Given the description of an element on the screen output the (x, y) to click on. 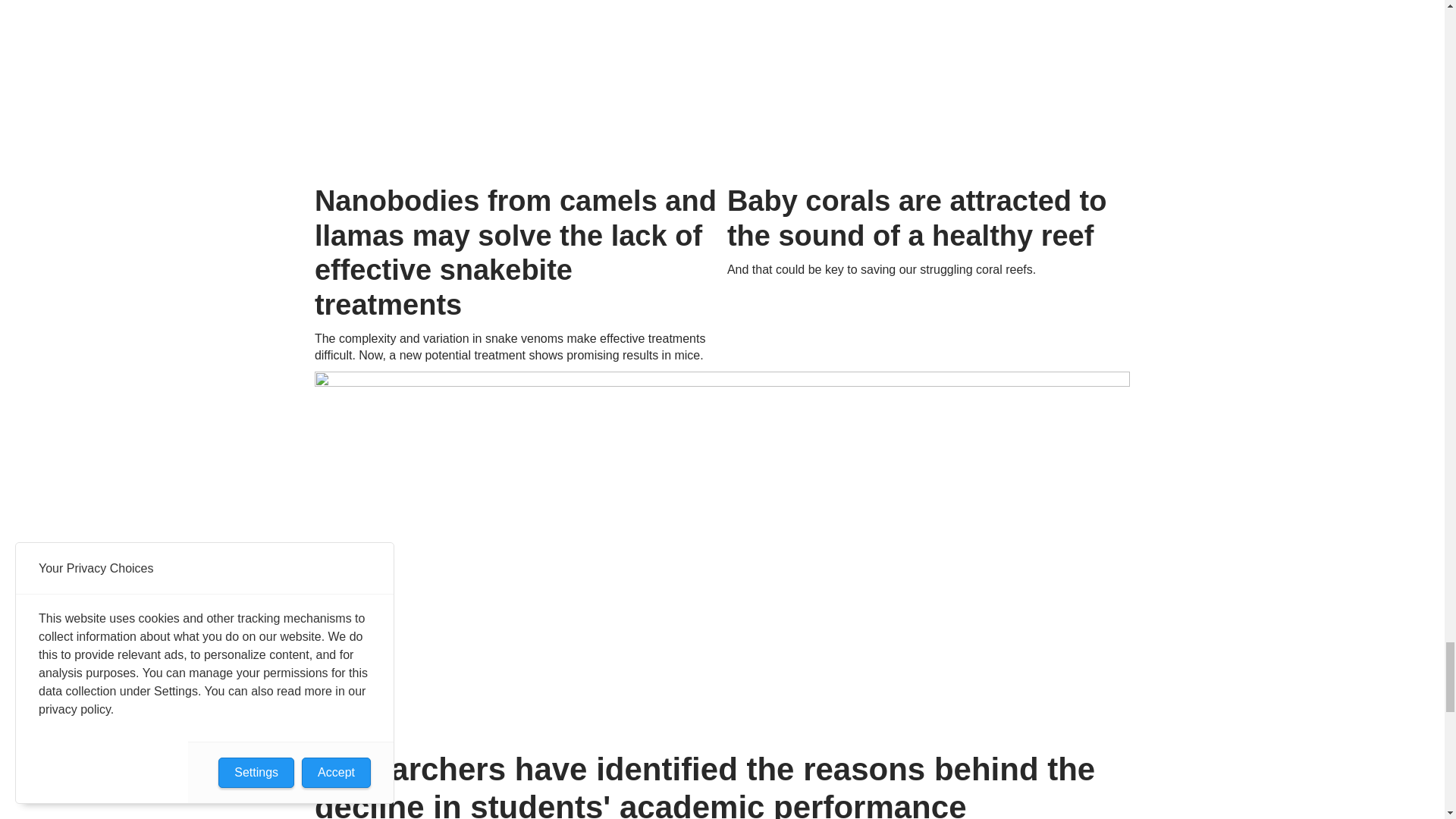
Baby corals are attracted to the sound of a healthy reef (927, 86)
